Given the description of an element on the screen output the (x, y) to click on. 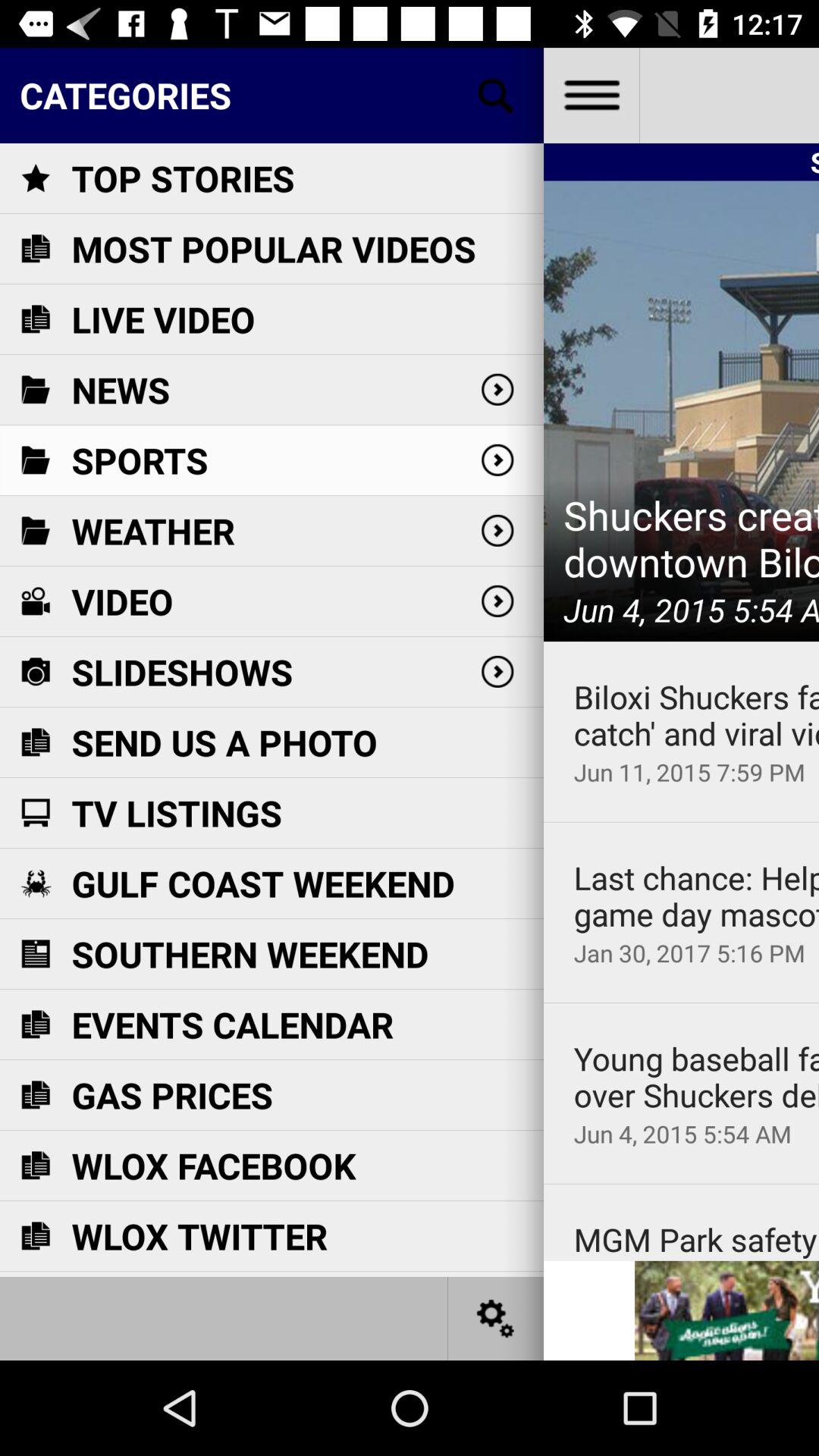
click on the second next button from the top right of the page (497, 460)
click on the image below three horizontal lnes in the right side of web page (681, 411)
click on the icon beside news (35, 390)
click on the fourth from top under categories (497, 601)
